Given the description of an element on the screen output the (x, y) to click on. 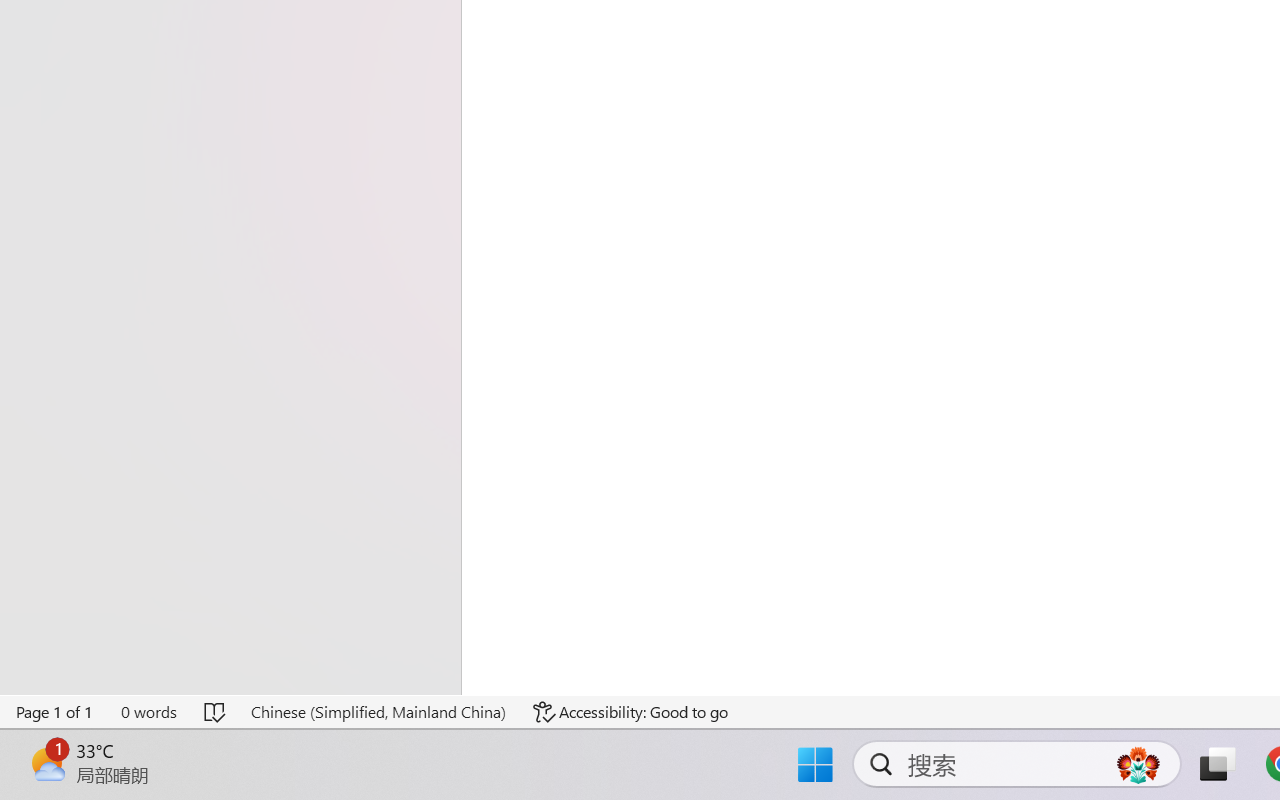
Language Chinese (Simplified, Mainland China) (378, 712)
